Given the description of an element on the screen output the (x, y) to click on. 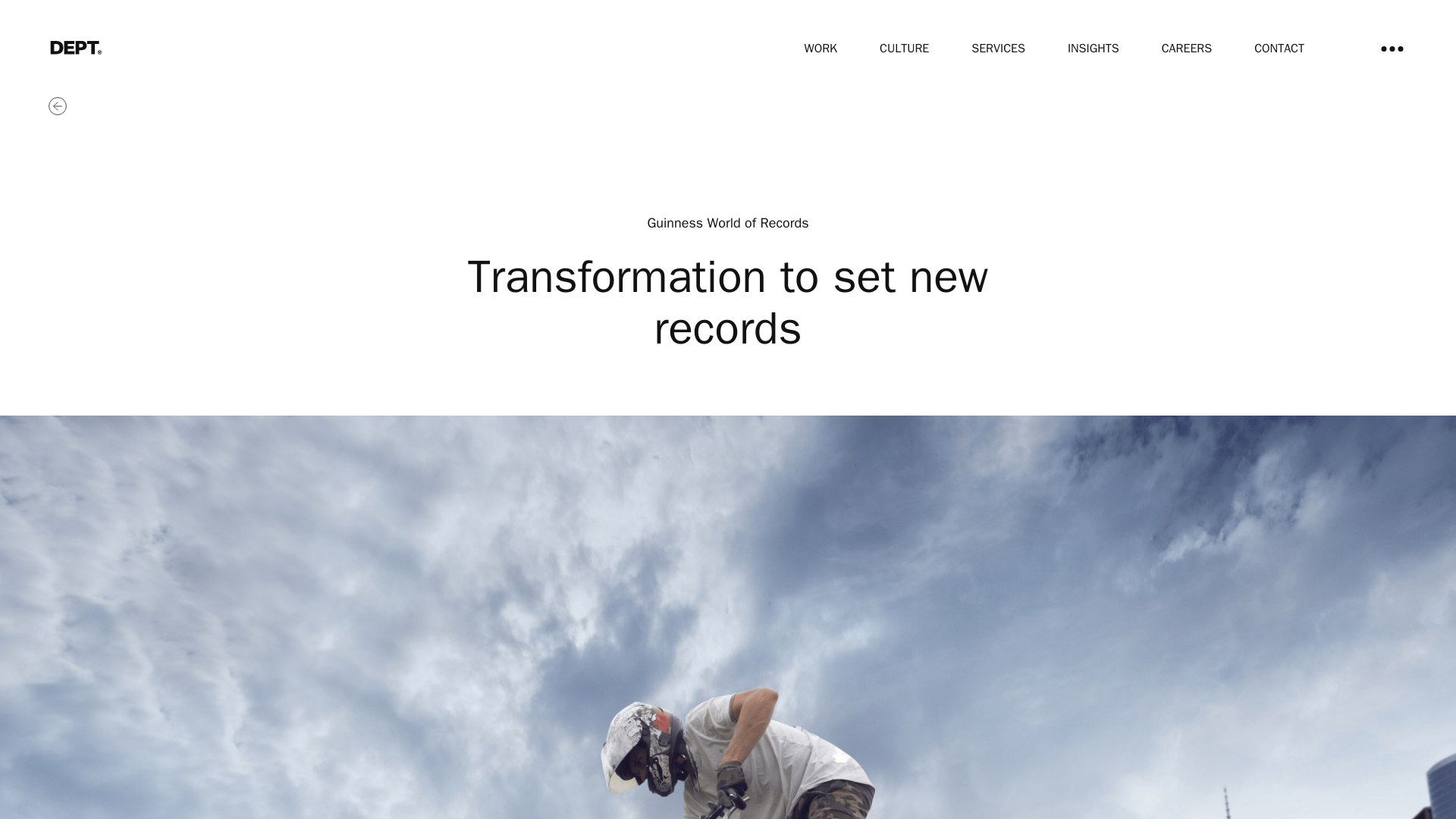
SERVICES (998, 48)
Toggle menu (1392, 48)
INSIGHTS (1093, 48)
CAREERS (1186, 48)
CONTACT (1278, 48)
WORK (821, 48)
CULTURE (903, 48)
